Given the description of an element on the screen output the (x, y) to click on. 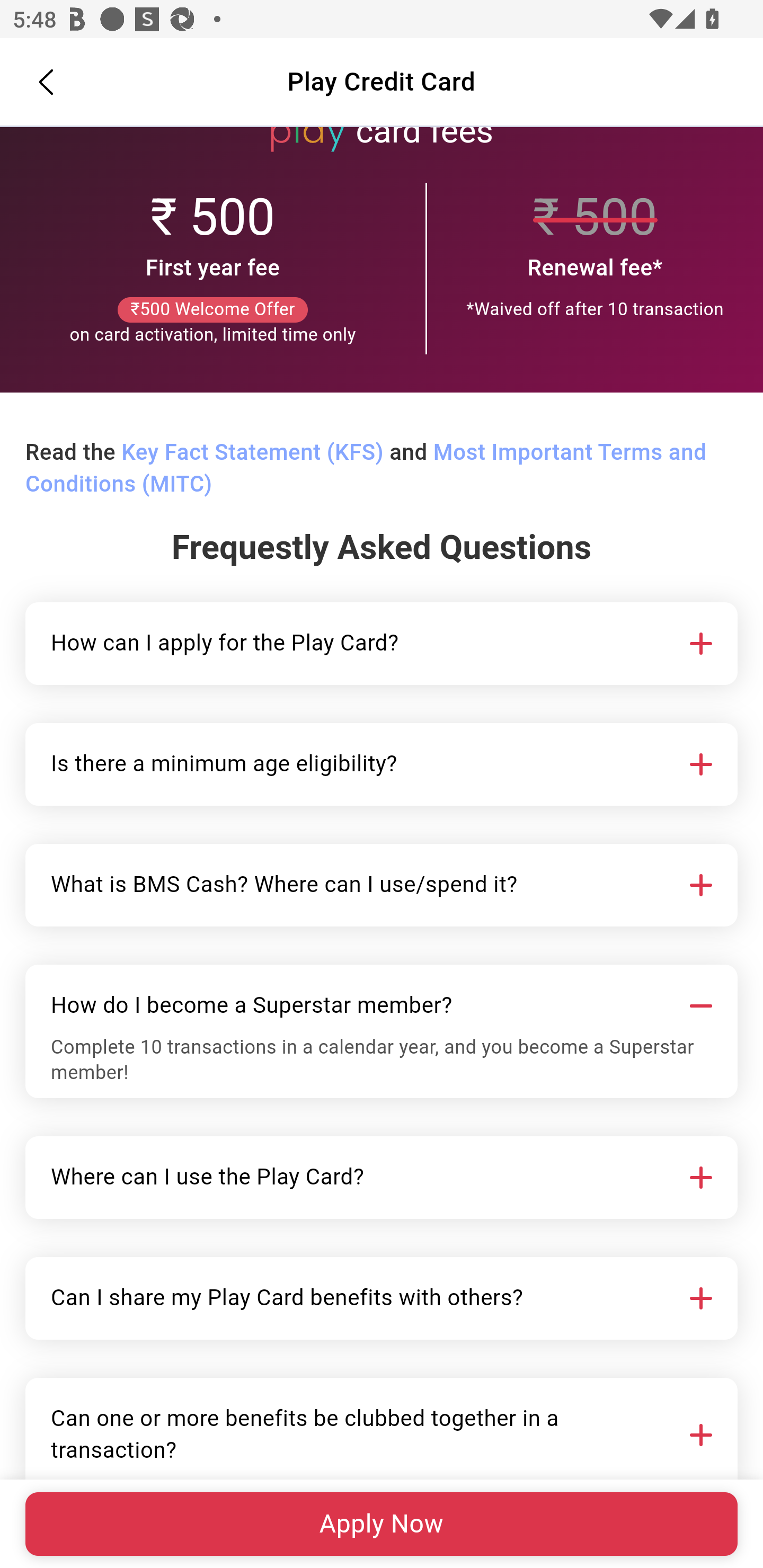
Most Important Terms and Conditions (MITC) (366, 469)
Key Fact Statement (KFS) (252, 453)
